Given the description of an element on the screen output the (x, y) to click on. 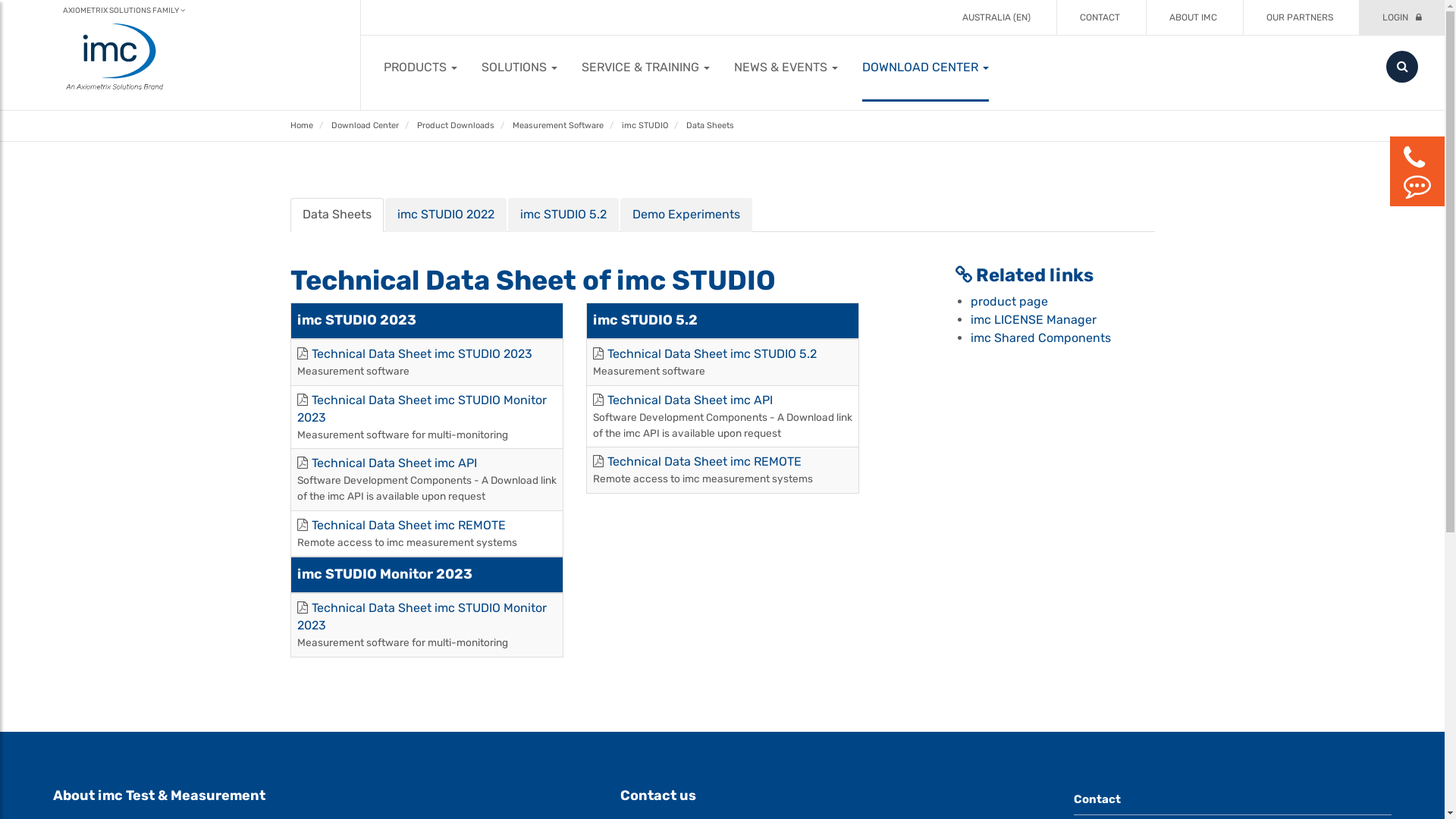
Data Sheets Element type: text (335, 214)
Contact Element type: text (1232, 799)
PRODUCTS Element type: text (420, 66)
Download Center Element type: text (364, 125)
A leader in the test & measurement space Element type: hover (389, 54)
imc STUDIO 2022 Element type: text (445, 214)
imc STUDIO Element type: text (644, 125)
Home Element type: text (300, 125)
Audio Analyzers & Testing by Audio Precision Element type: hover (610, 54)
Product Downloads Element type: text (455, 125)
GRAS Sound and Vibration Element type: hover (833, 54)
ABOUT IMC Element type: text (1192, 17)
SOLUTIONS Element type: text (519, 66)
Technical Data Sheet imc STUDIO 2023 Element type: text (420, 353)
imc LICENSE Manager Element type: text (1033, 319)
NEWS & EVENTS Element type: text (785, 66)
LOGIN Element type: text (1401, 17)
Technical Data Sheet imc REMOTE Element type: text (407, 524)
imc Shared Components Element type: text (1040, 337)
imc STUDIO 5.2 Element type: text (563, 214)
product page Element type: text (1009, 301)
OUR PARTNERS Element type: text (1299, 17)
Technical Data Sheet imc REMOTE Element type: text (703, 461)
Technical Data Sheet imc STUDIO Monitor 2023 Element type: text (421, 408)
imc Test & Measurement GmbH - productive testing Element type: hover (1055, 54)
AXIOMETRIX SOLUTIONS FAMILY  Element type: text (123, 10)
Demo Experiments Element type: text (686, 214)
DOWNLOAD CENTER Element type: text (925, 66)
Technical Data Sheet imc STUDIO Monitor 2023 Element type: text (421, 616)
CONTACT Element type: text (1099, 17)
Data Sheets Element type: text (709, 125)
Technical Data Sheet imc API Element type: text (688, 399)
Measurement Software Element type: text (557, 125)
Technical Data Sheet imc API Element type: text (393, 462)
SERVICE & TRAINING Element type: text (645, 66)
Technical Data Sheet imc STUDIO 5.2 Element type: text (710, 353)
